Given the description of an element on the screen output the (x, y) to click on. 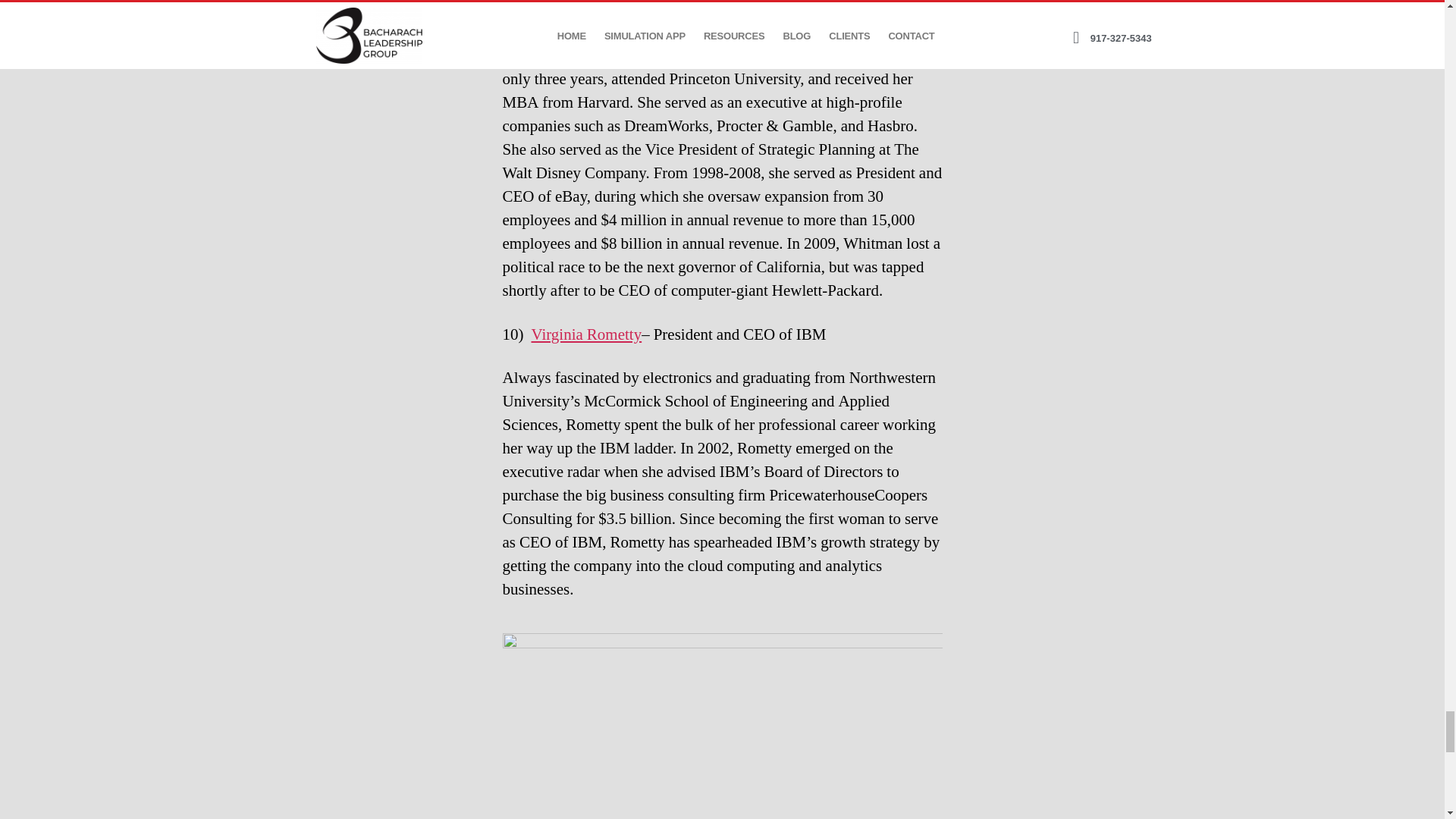
women at table (722, 725)
